Given the description of an element on the screen output the (x, y) to click on. 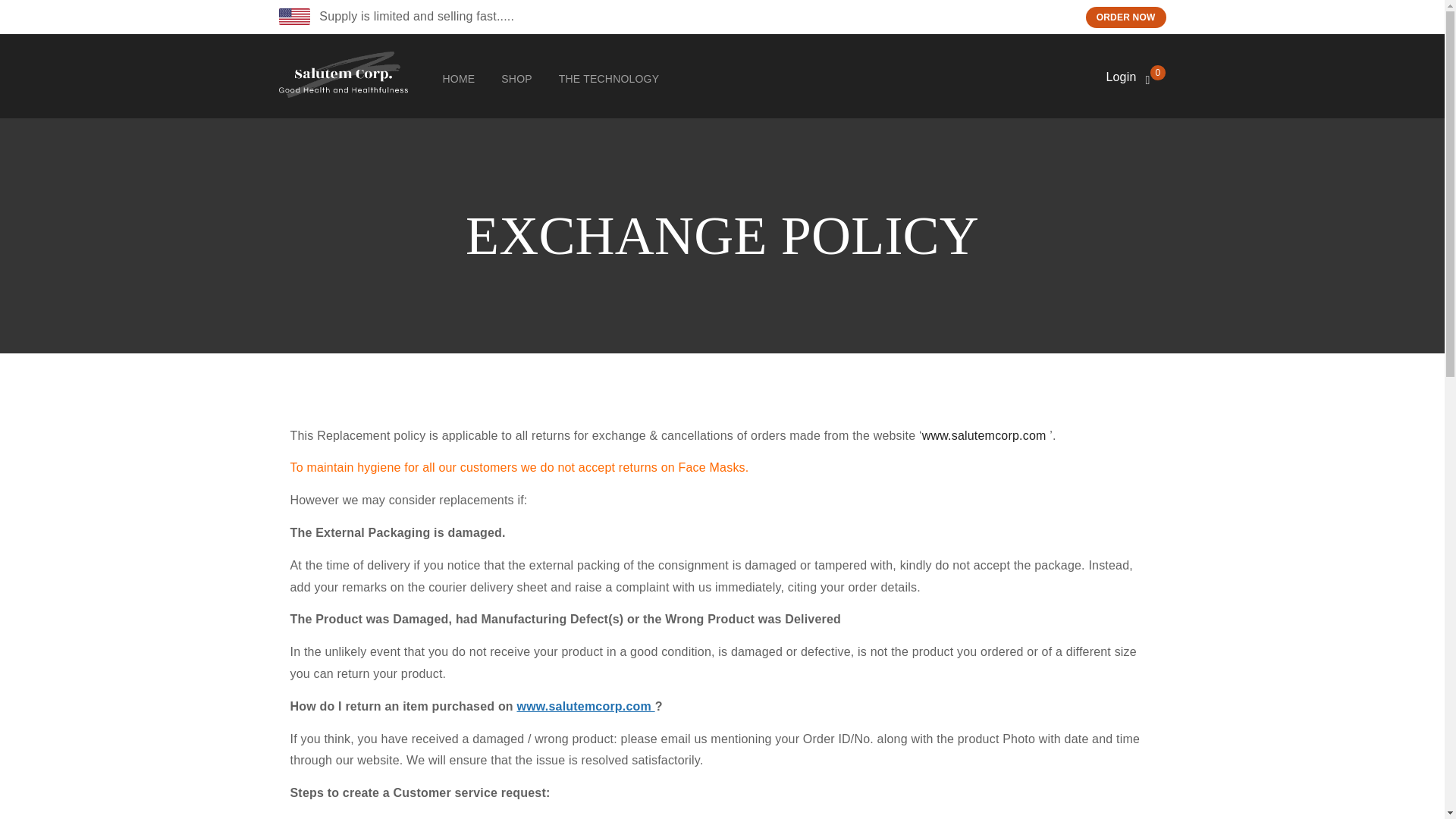
ORDER NOW (1126, 16)
THE TECHNOLOGY (609, 81)
HOME (459, 81)
View your shopping cart (1155, 77)
www.salutemcorp.com  (985, 435)
SHOP (515, 81)
0 (1155, 77)
Login (1120, 76)
